Given the description of an element on the screen output the (x, y) to click on. 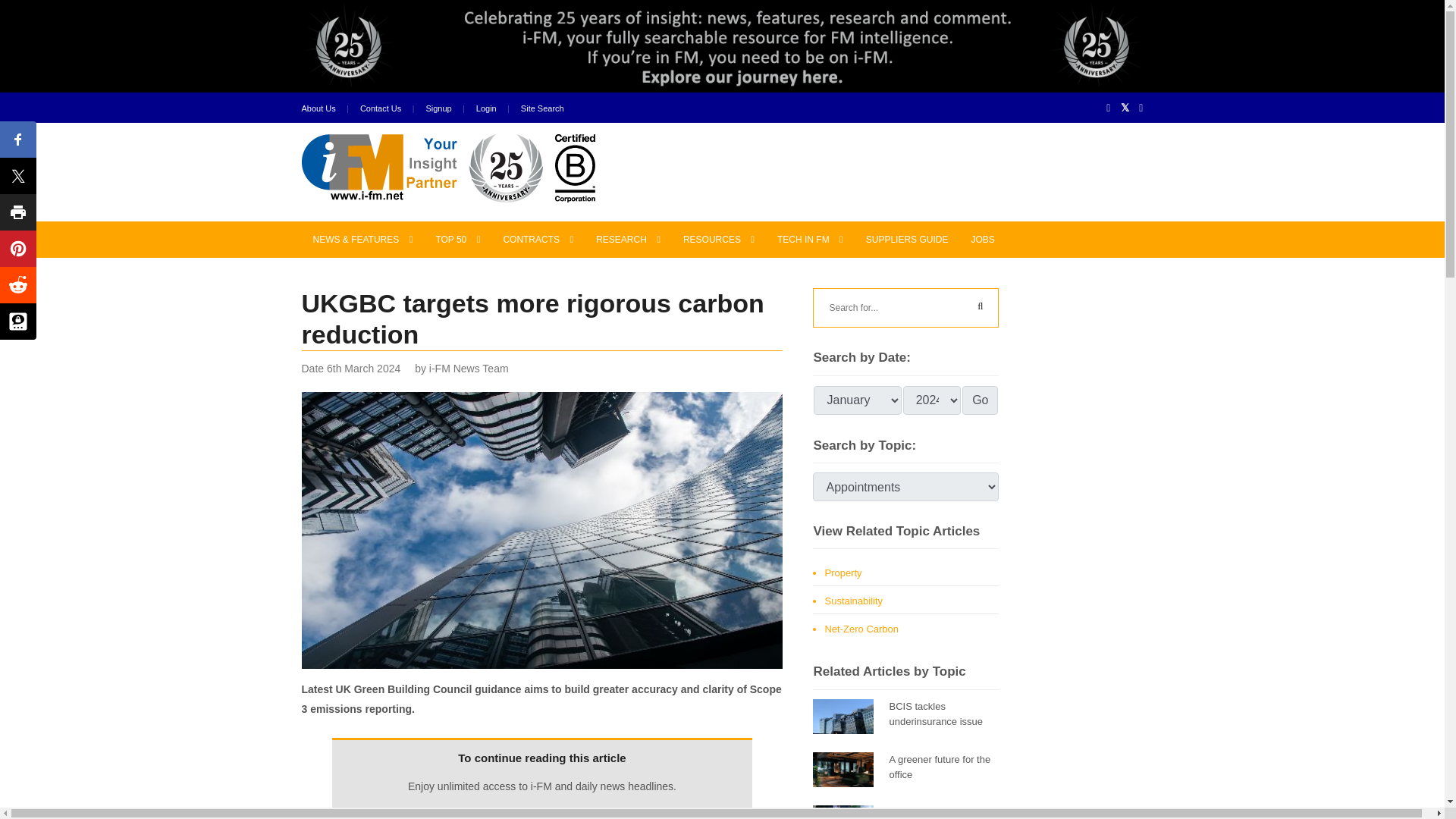
Contact Us (380, 108)
About Us (318, 108)
Login (486, 108)
Go (979, 399)
Signup (438, 108)
Site Search (542, 108)
